Given the description of an element on the screen output the (x, y) to click on. 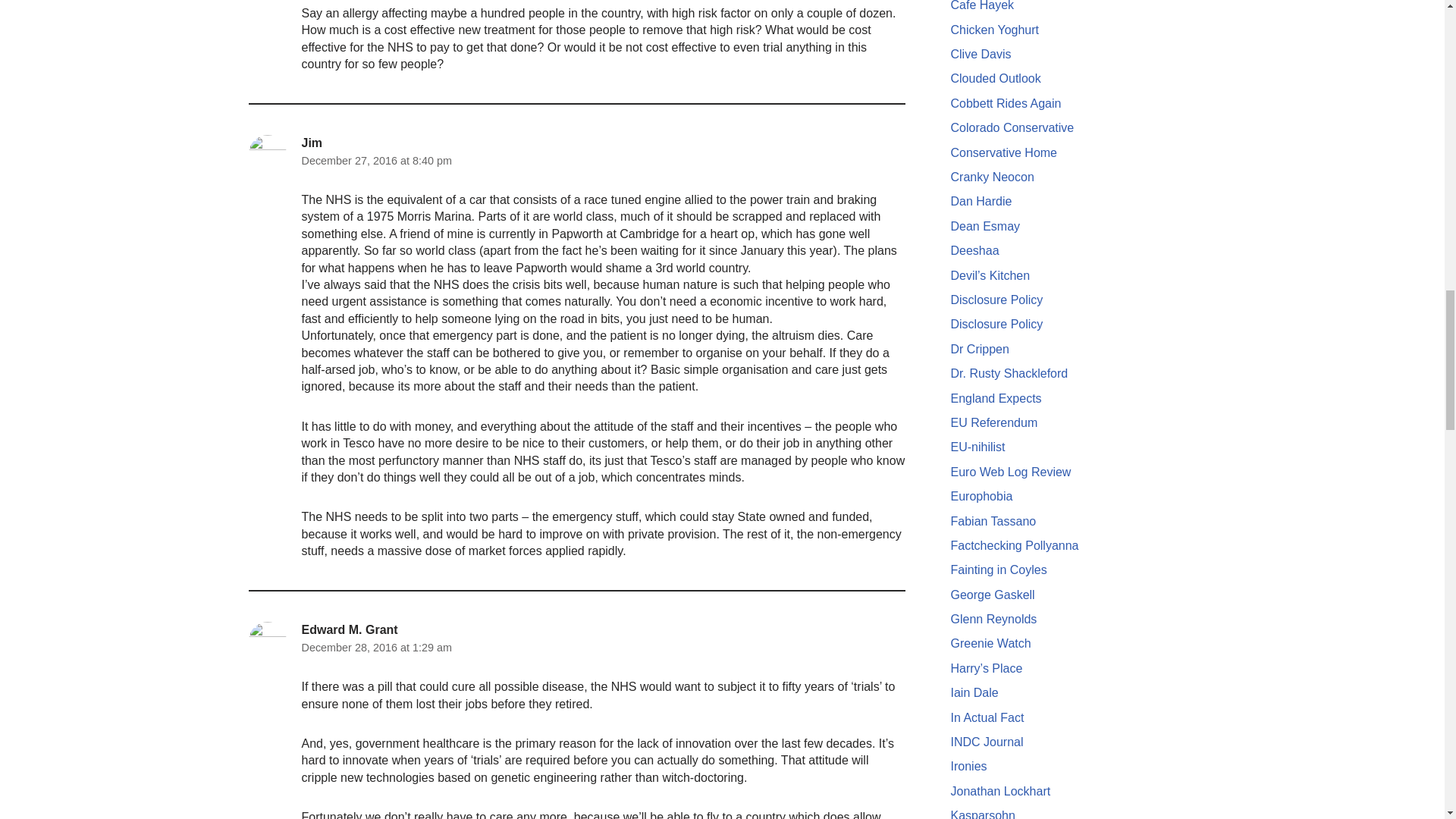
Edward M. Grant (349, 629)
December 28, 2016 at 1:29 am (376, 647)
Swearblogging Devil (990, 275)
December 27, 2016 at 8:40 pm (376, 160)
